Given the description of an element on the screen output the (x, y) to click on. 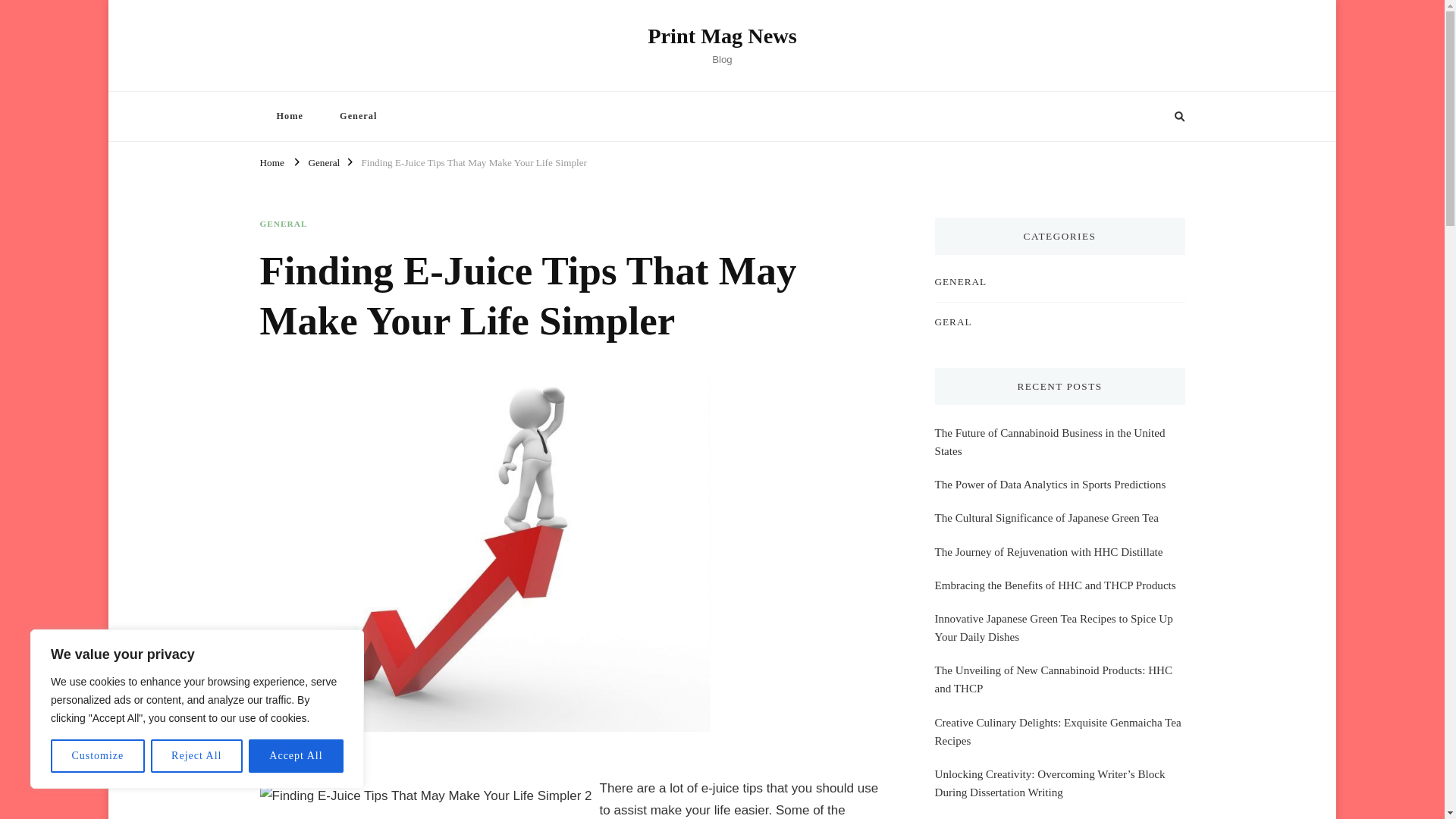
GENERAL (283, 223)
Home (271, 161)
Home (288, 115)
Finding E-Juice Tips That May Make Your Life Simpler (473, 161)
Reject All (197, 756)
Customize (97, 756)
Accept All (295, 756)
General (358, 115)
General (323, 161)
Print Mag News (721, 35)
